Given the description of an element on the screen output the (x, y) to click on. 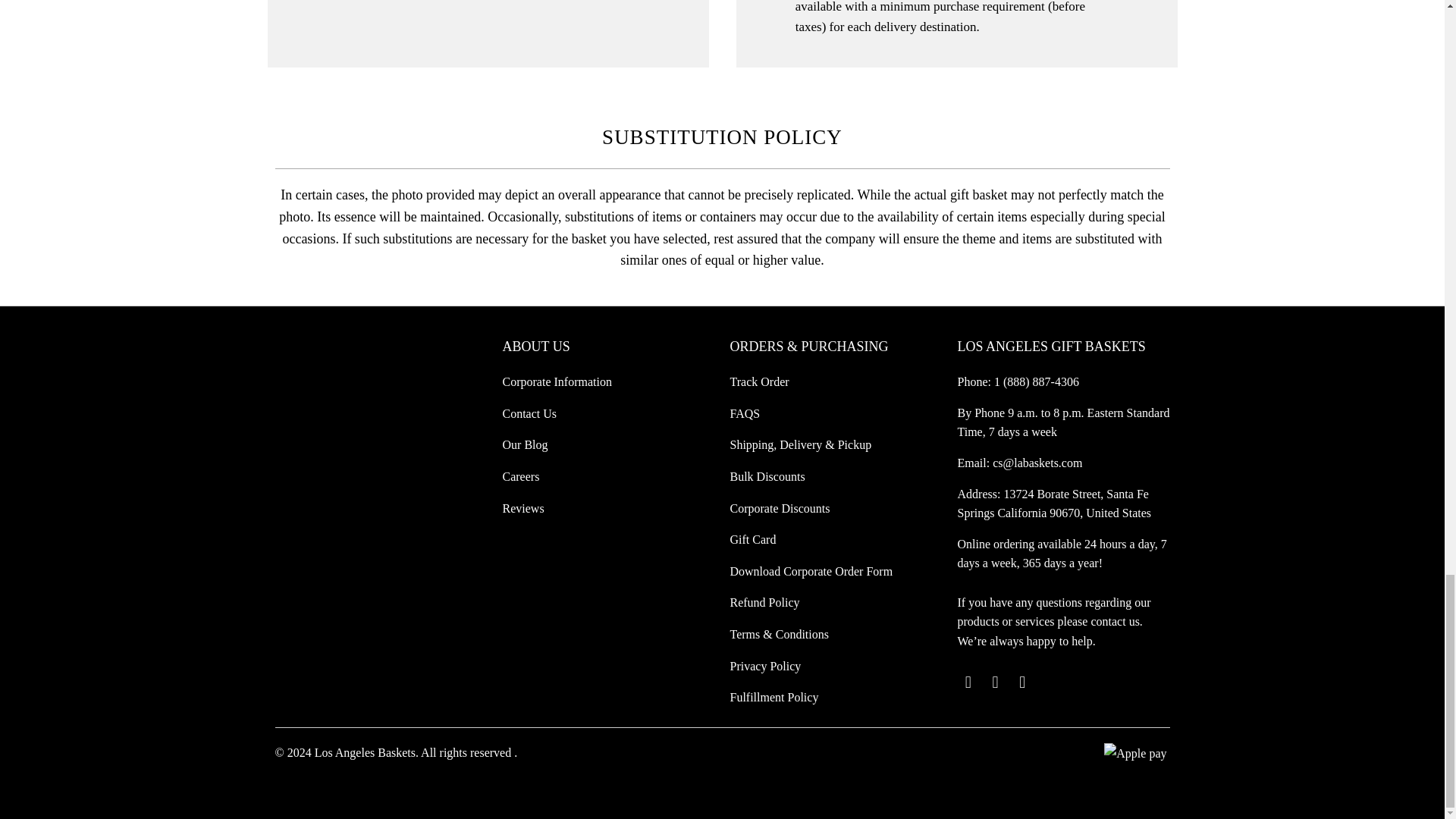
Los Angeles Baskets on Instagram (1022, 682)
Los Angeles Baskets on Twitter (967, 682)
Los Angeles Baskets on Facebook (995, 682)
